Given the description of an element on the screen output the (x, y) to click on. 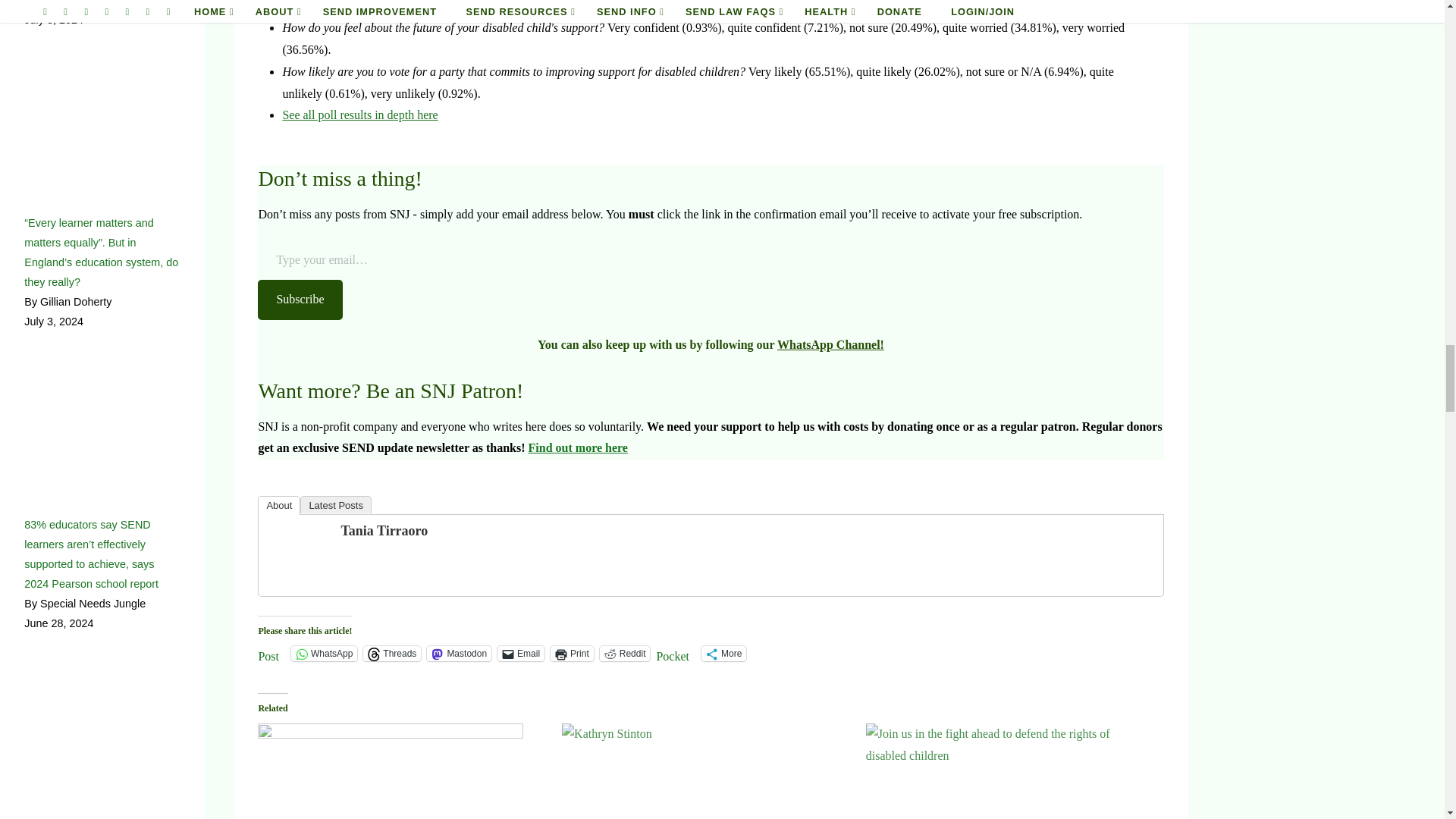
Click to share on Reddit (624, 653)
Tania Tirraoro (298, 553)
Click to share on Mastodon (459, 653)
Click to print (572, 653)
Click to share on Threads (391, 653)
Please fill in this field. (710, 260)
Click to email a link to a friend (520, 653)
Click to share on WhatsApp (323, 653)
